Given the description of an element on the screen output the (x, y) to click on. 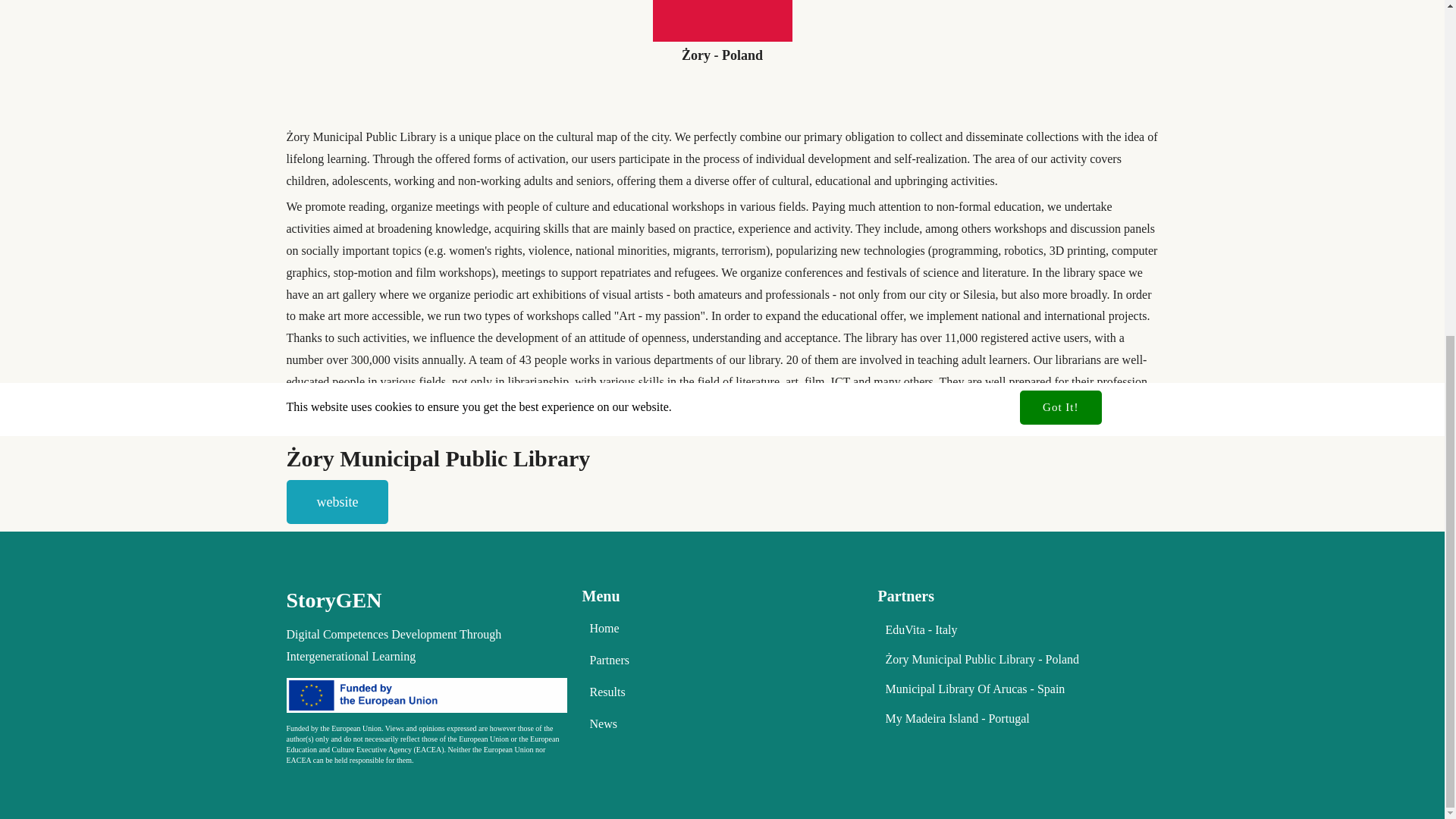
Partners (722, 660)
News (722, 723)
flag-800 Poland (722, 20)
Home (722, 628)
Results (722, 691)
website (337, 501)
StoryGEN (426, 600)
